Given the description of an element on the screen output the (x, y) to click on. 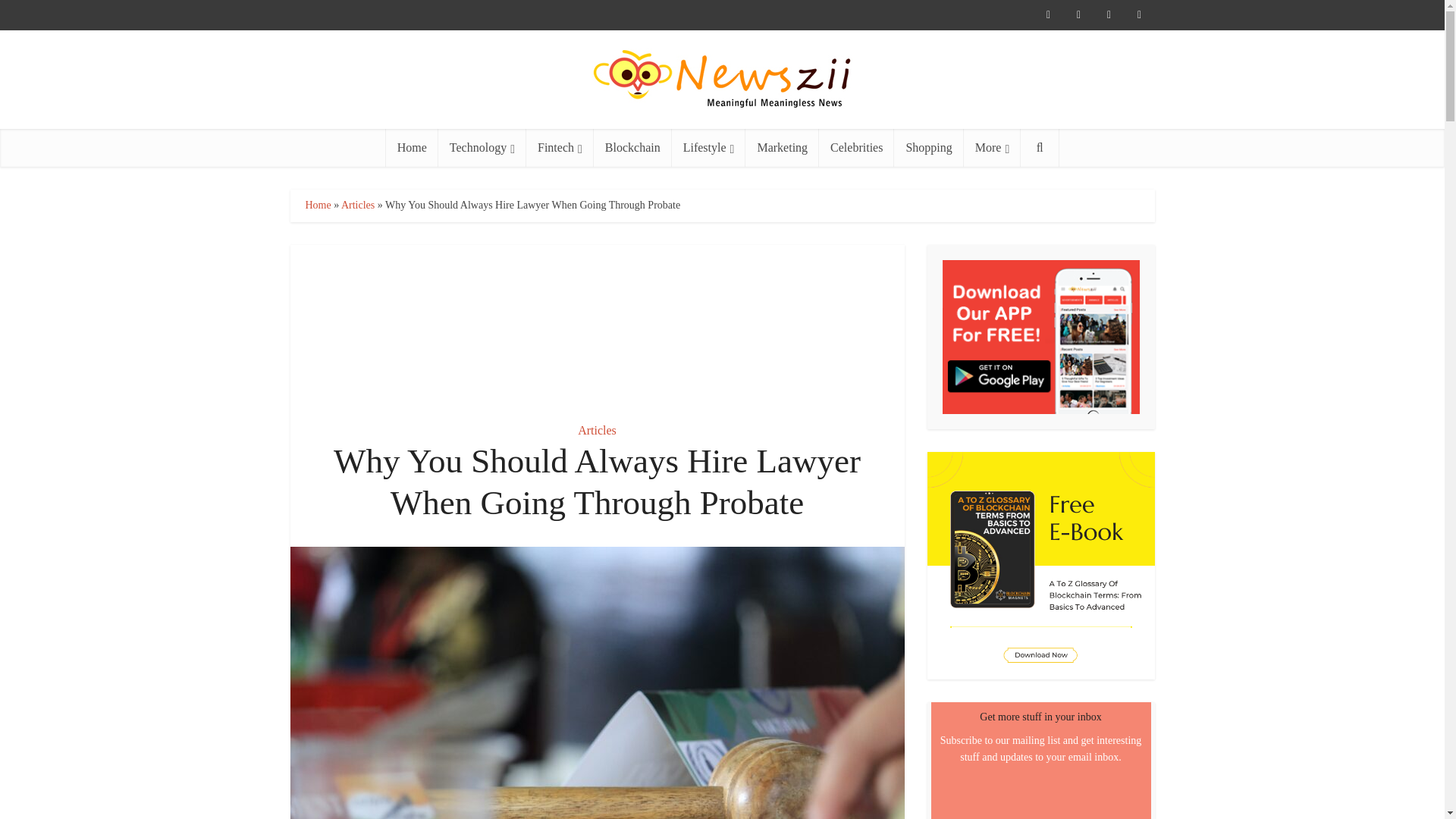
Technology (481, 147)
Lifestyle (708, 147)
Home (411, 147)
Blockchain (632, 147)
Fintech (559, 147)
